Given the description of an element on the screen output the (x, y) to click on. 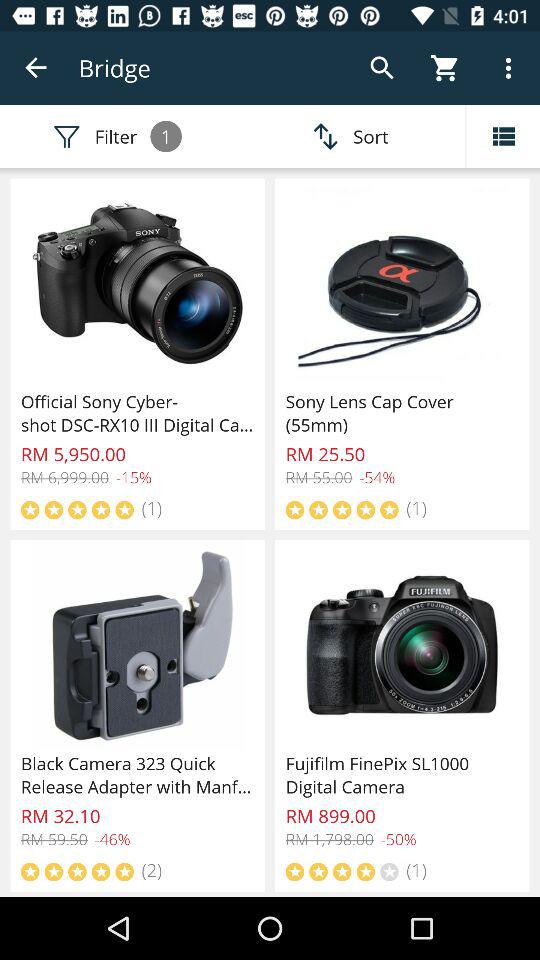
display option (503, 136)
